Given the description of an element on the screen output the (x, y) to click on. 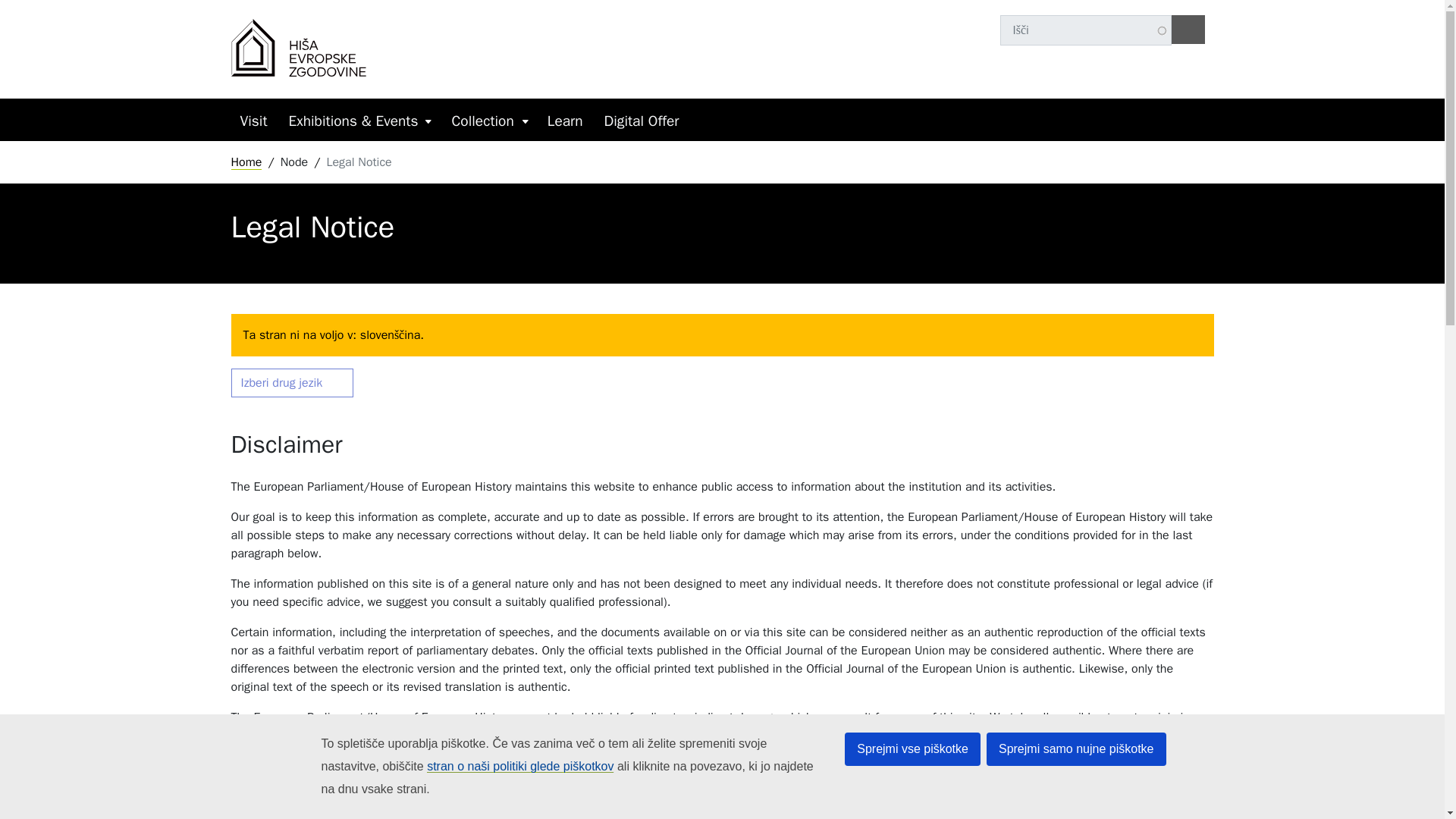
Collection (483, 121)
Izberi drug jezik (291, 382)
Learn (565, 121)
Home (246, 161)
Digital Offer (641, 121)
Home (298, 48)
Visit (253, 121)
